Given the description of an element on the screen output the (x, y) to click on. 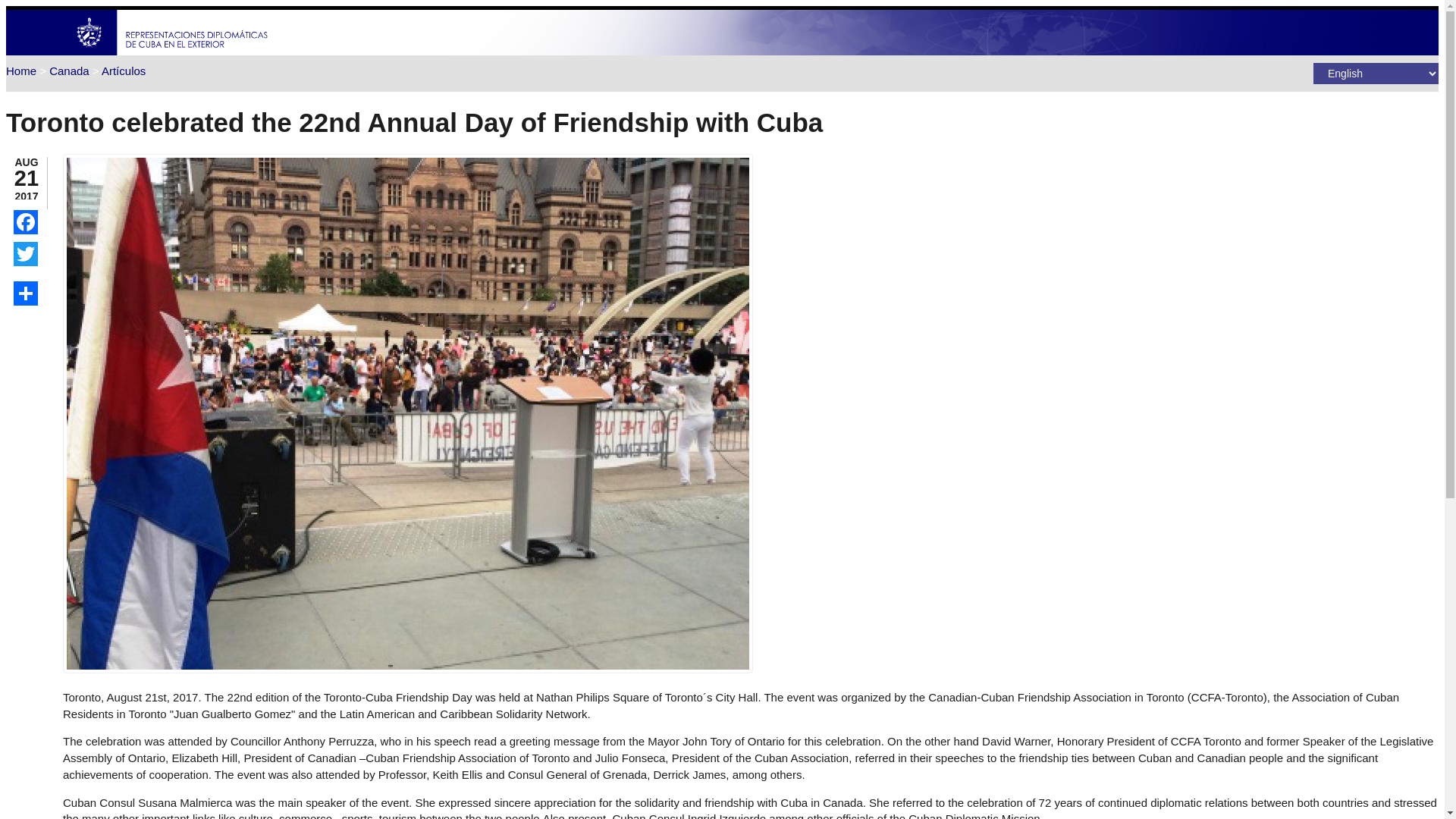
Home (172, 51)
FACEBOOK (25, 221)
Canada (68, 70)
Home (20, 70)
TWITTER (25, 253)
SHARE (25, 293)
